Given the description of an element on the screen output the (x, y) to click on. 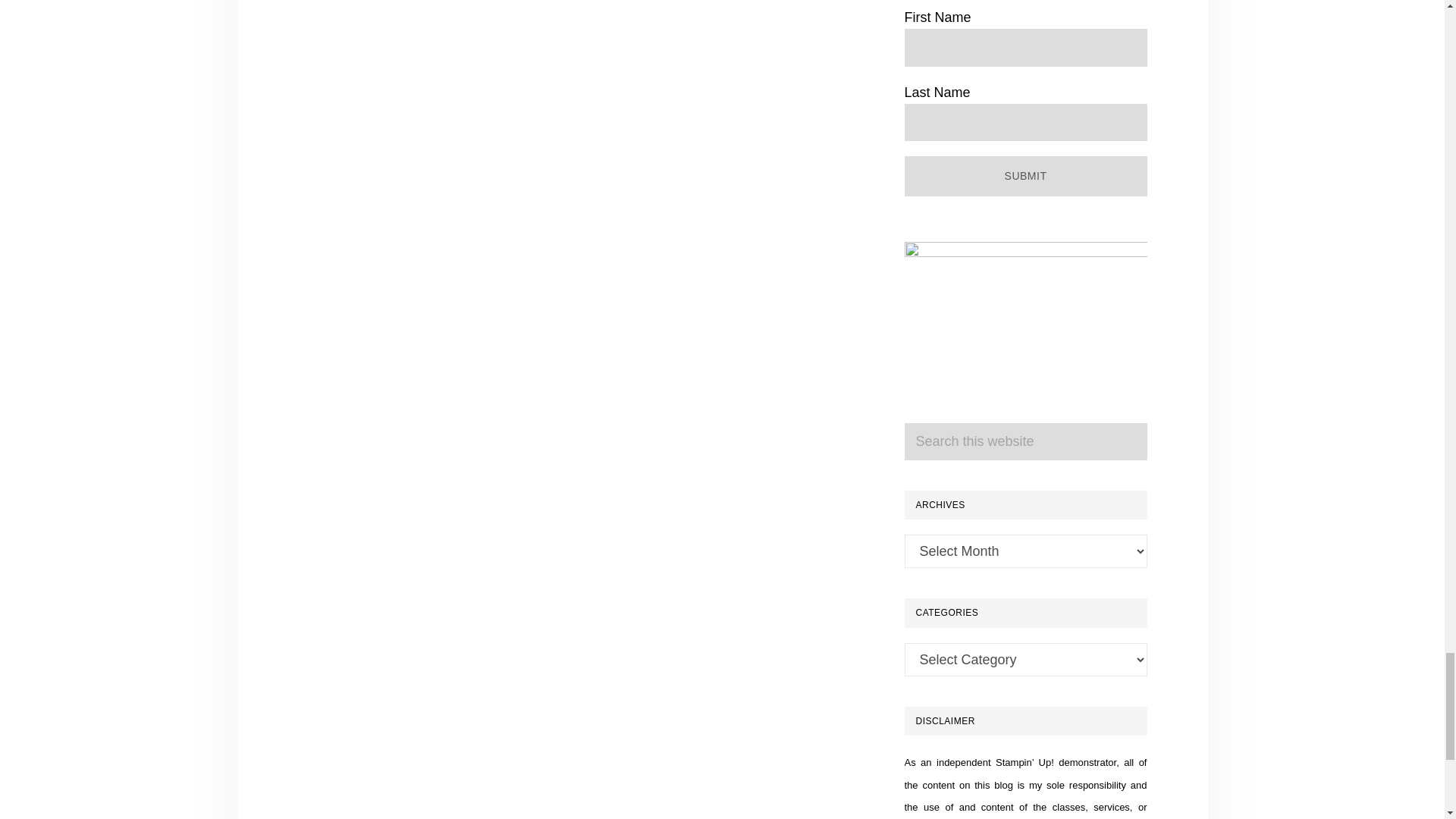
Submit (1025, 176)
